Given the description of an element on the screen output the (x, y) to click on. 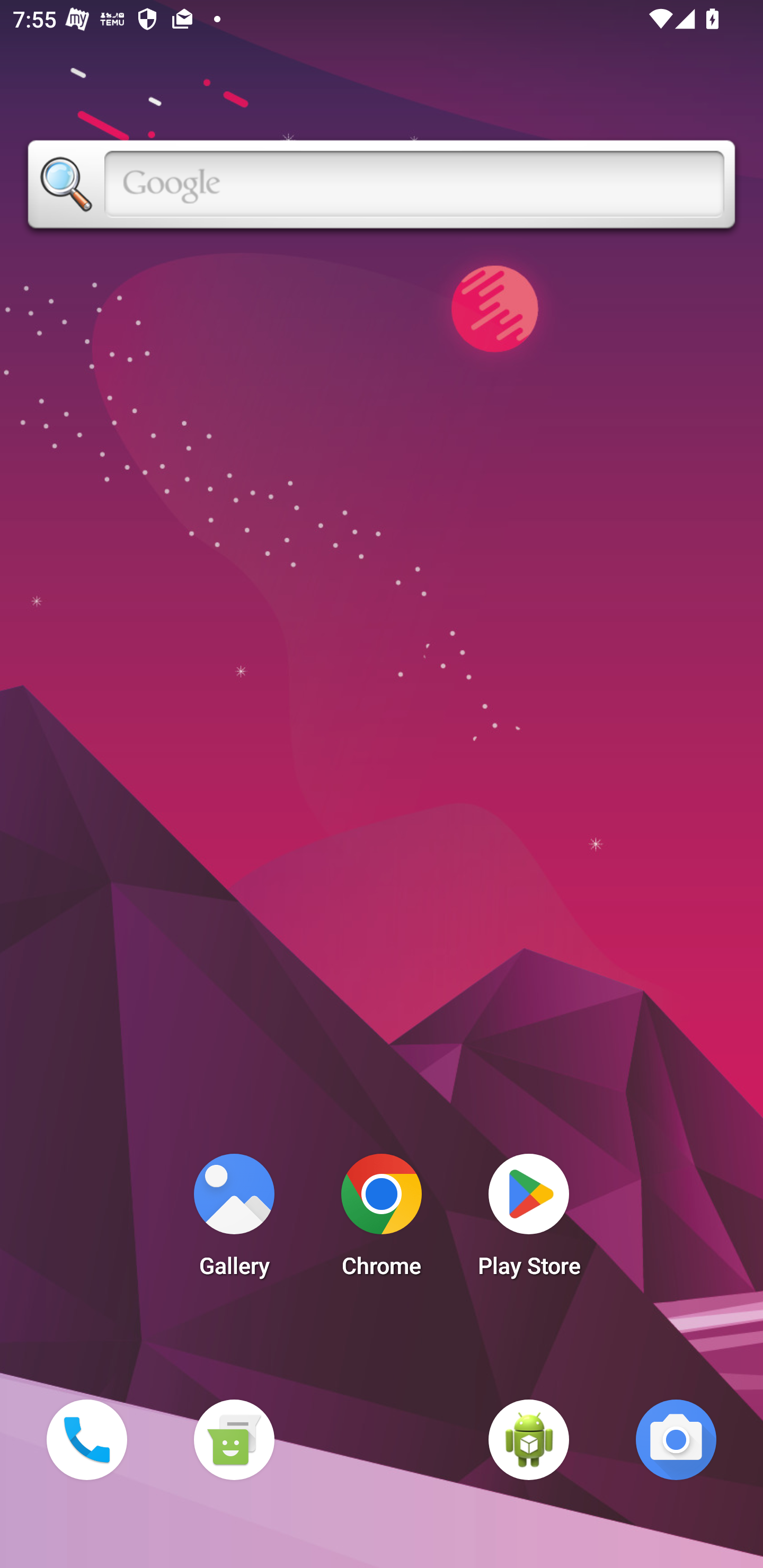
Gallery (233, 1220)
Chrome (381, 1220)
Play Store (528, 1220)
Phone (86, 1439)
Messaging (233, 1439)
WebView Browser Tester (528, 1439)
Camera (676, 1439)
